Given the description of an element on the screen output the (x, y) to click on. 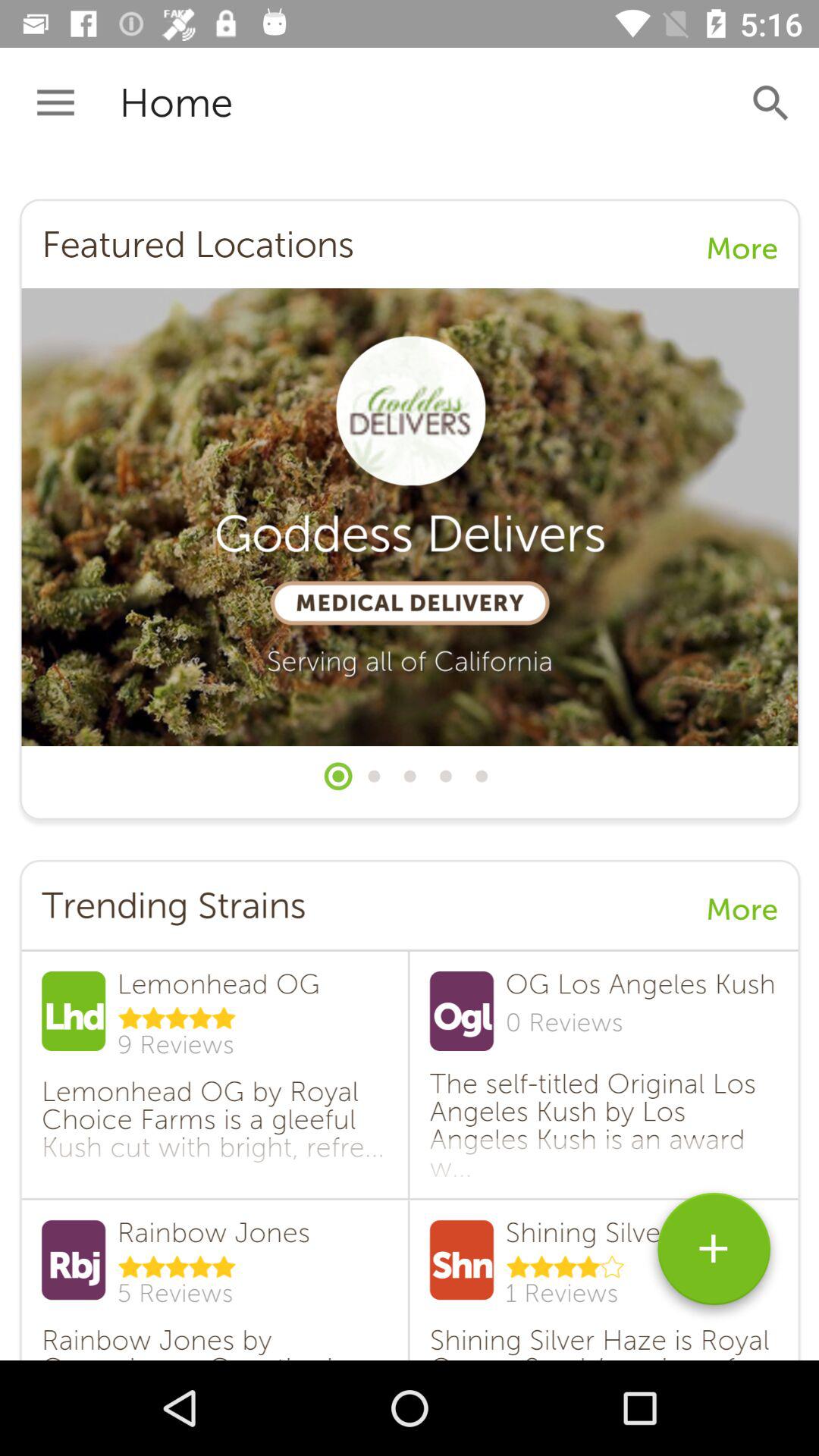
click discription (409, 759)
